Given the description of an element on the screen output the (x, y) to click on. 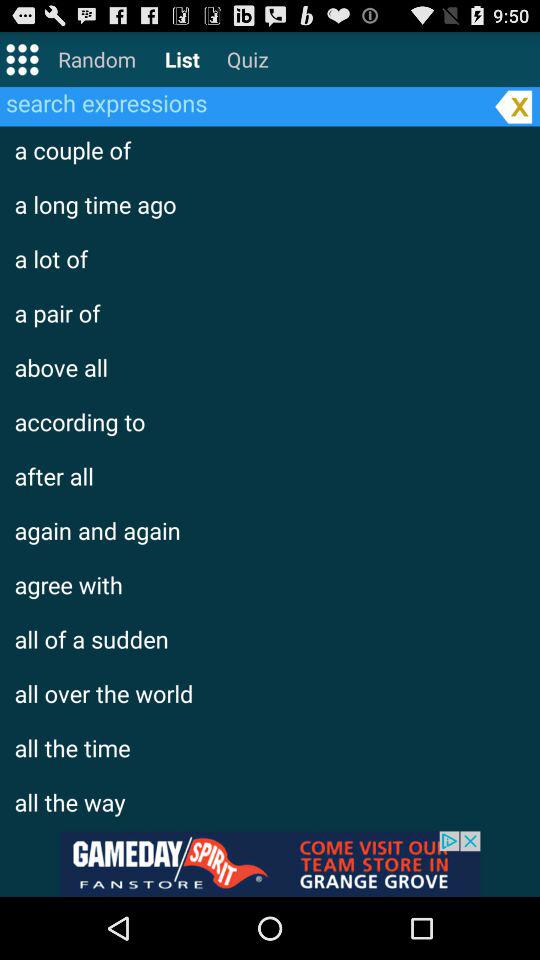
word search option (244, 102)
